Given the description of an element on the screen output the (x, y) to click on. 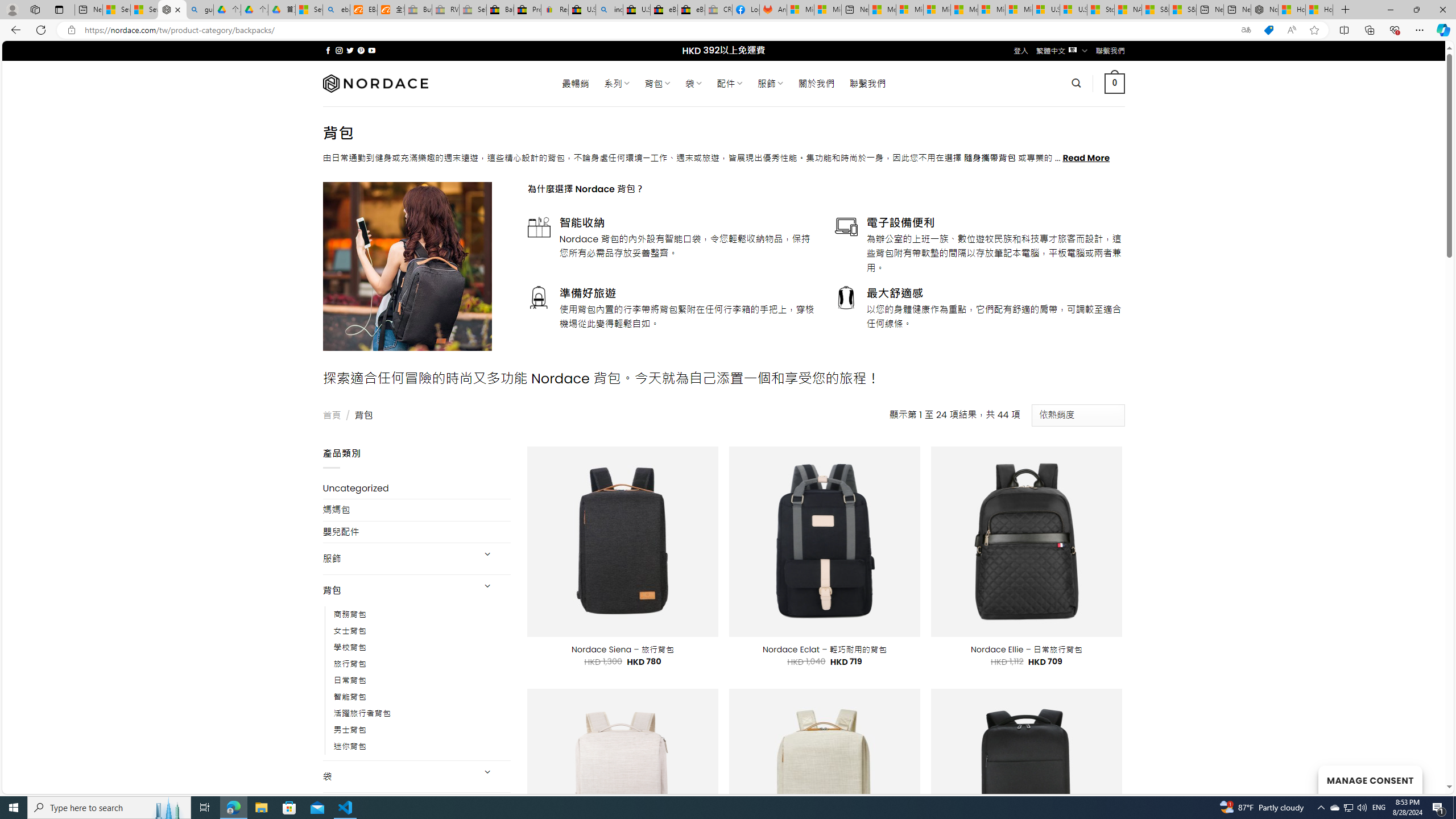
Sell worldwide with eBay - Sleeping (473, 9)
eBay Inc. Reports Third Quarter 2023 Results (691, 9)
Uncategorized (416, 488)
MANAGE CONSENT (1369, 779)
U.S. State Privacy Disclosures - eBay Inc. (636, 9)
